Given the description of an element on the screen output the (x, y) to click on. 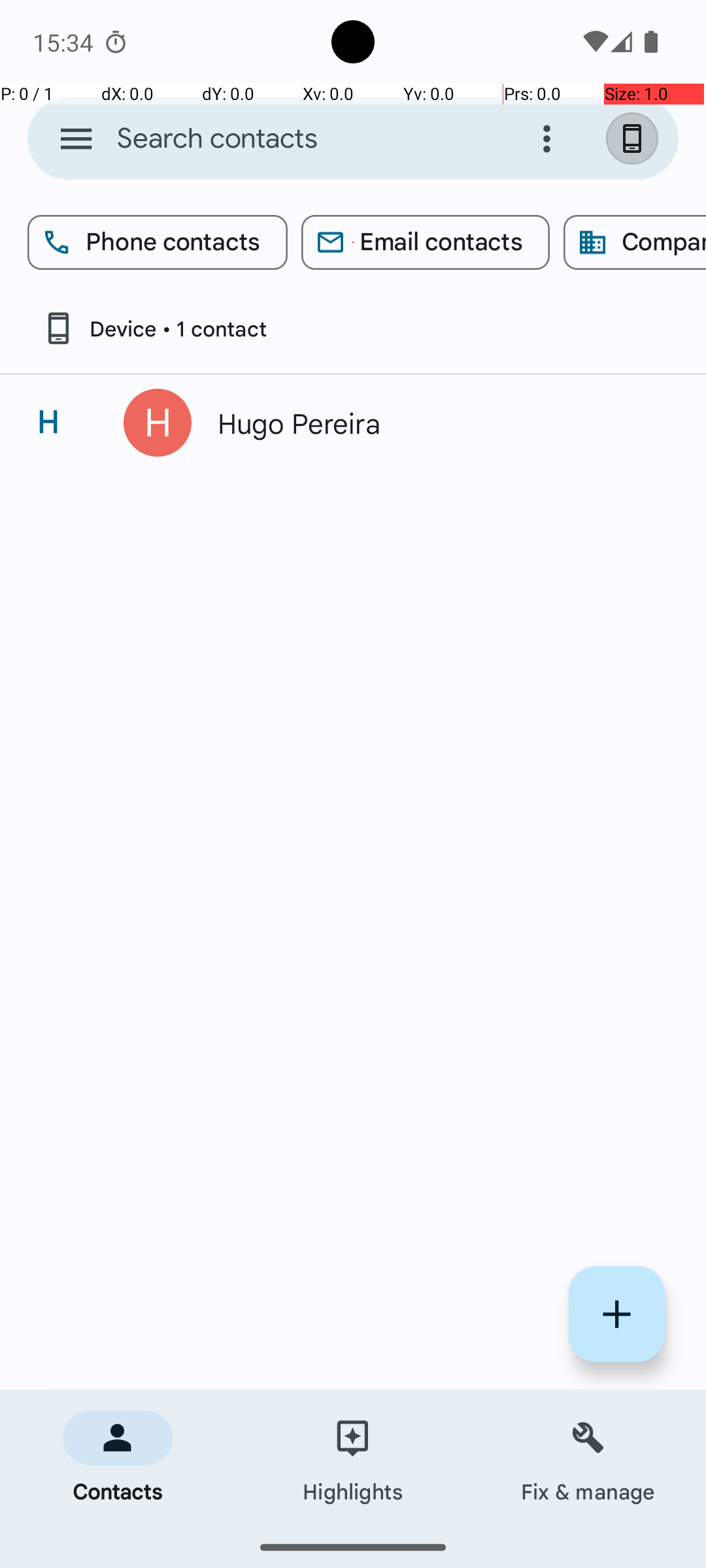
Device • 1 contact Element type: android.widget.TextView (153, 328)
Hugo Pereira Element type: android.widget.TextView (434, 422)
